Given the description of an element on the screen output the (x, y) to click on. 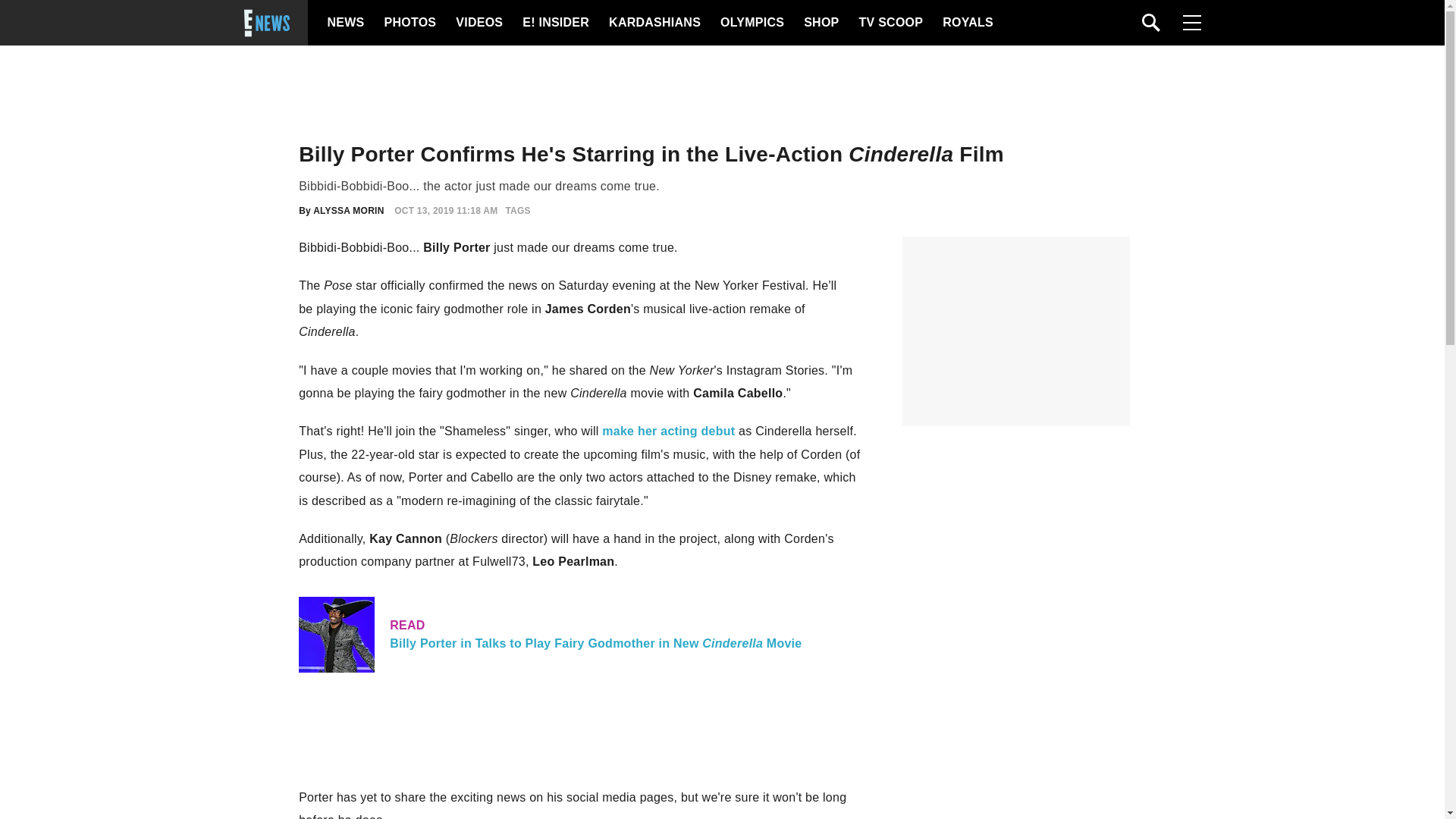
SHOP (820, 22)
TV SCOOP (890, 22)
PHOTOS (408, 22)
VIDEOS (478, 22)
make her acting debut (668, 431)
E! INSIDER (555, 22)
KARDASHIANS (653, 22)
ROYALS (966, 22)
ALYSSA MORIN (348, 210)
NEWS (345, 22)
OLYMPICS (751, 22)
